Given the description of an element on the screen output the (x, y) to click on. 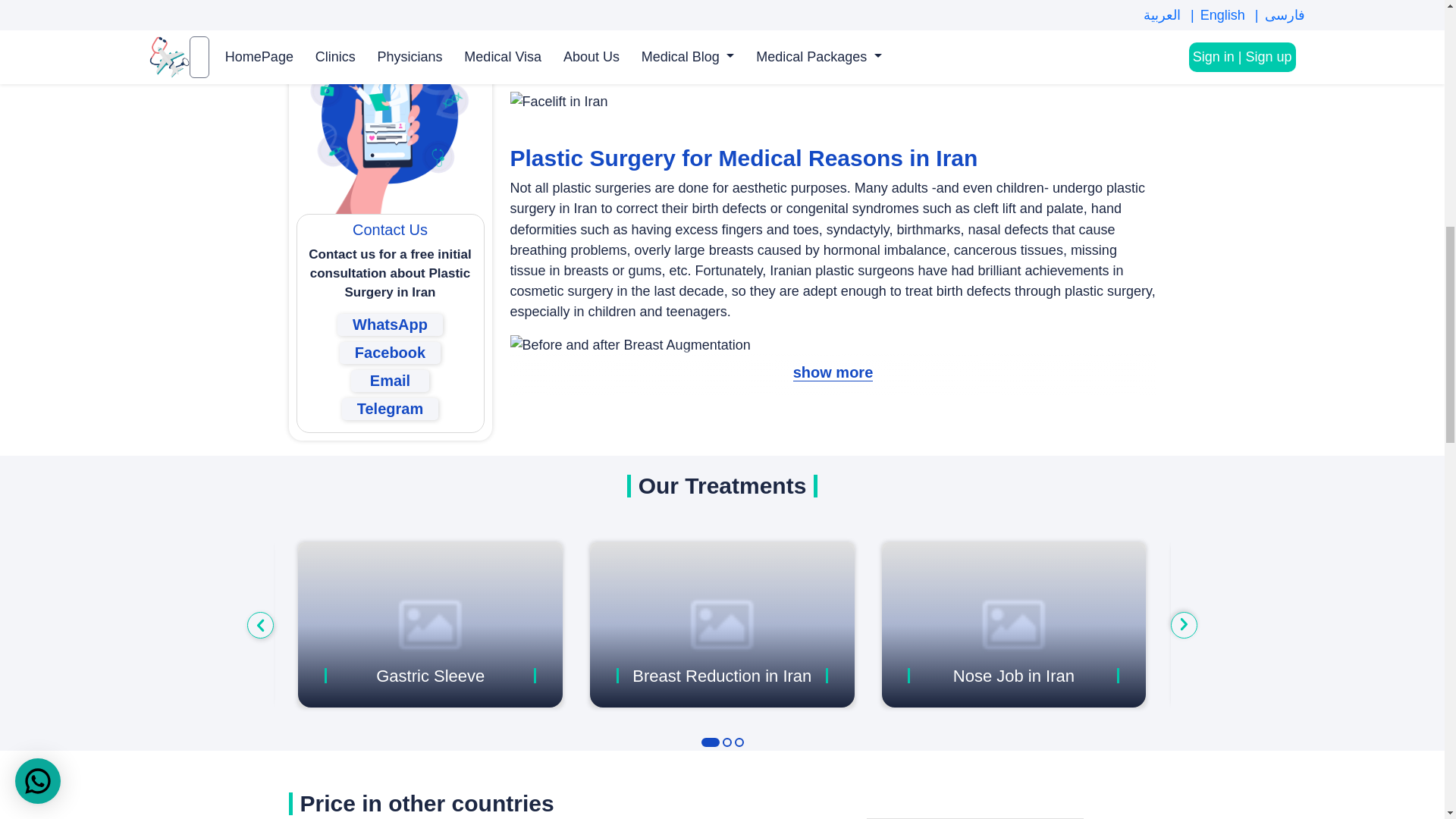
Facelift in Iran (558, 101)
Before and after Breast Augmentation (629, 344)
